Given the description of an element on the screen output the (x, y) to click on. 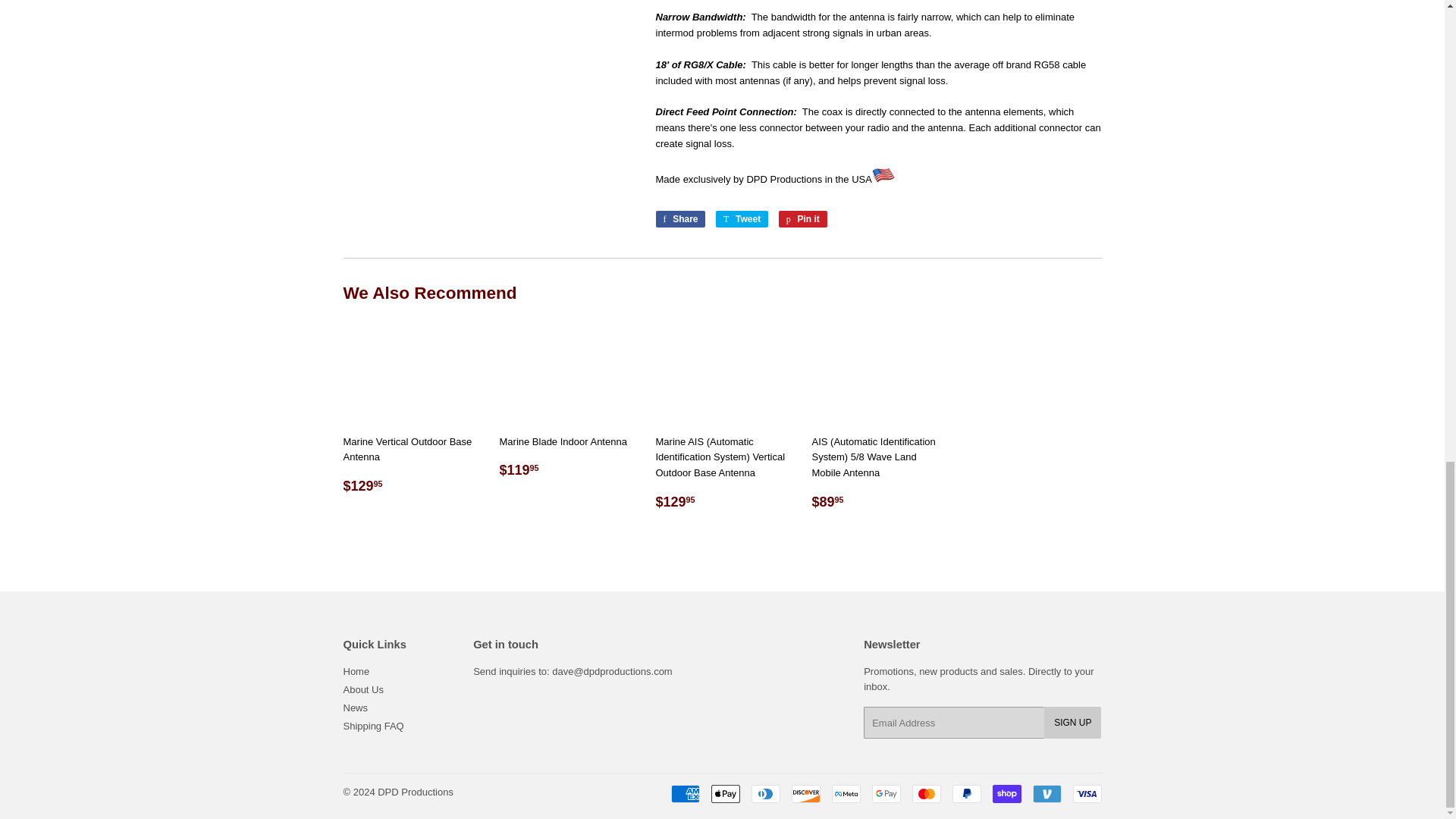
Share on Facebook (679, 218)
Venmo (1046, 793)
Discover (806, 793)
Pin on Pinterest (802, 218)
Apple Pay (725, 793)
Mastercard (925, 793)
Tweet on Twitter (742, 218)
PayPal (966, 793)
Shop Pay (1005, 793)
American Express (683, 793)
Google Pay (886, 793)
Visa (1085, 793)
Meta Pay (845, 793)
Diners Club (764, 793)
